Given the description of an element on the screen output the (x, y) to click on. 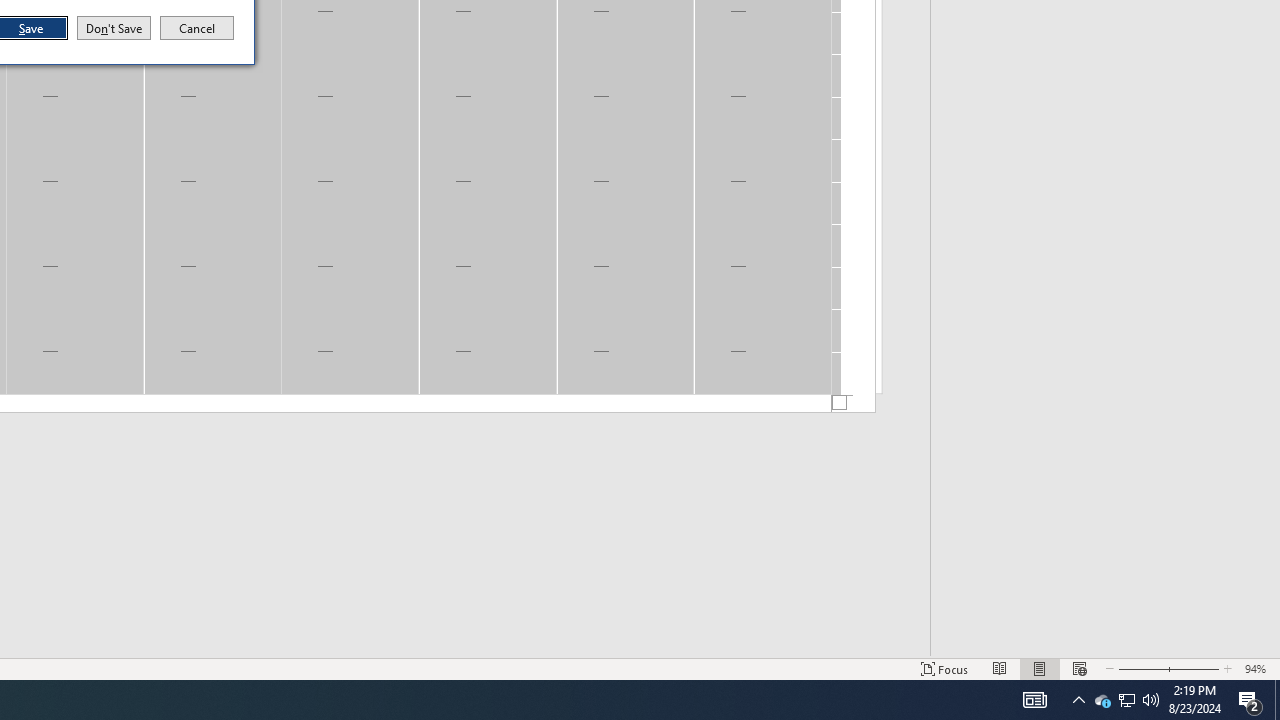
AutomationID: 4105 (1034, 699)
Zoom In (1193, 668)
Don't Save (113, 27)
Notification Chevron (1078, 699)
